Given the description of an element on the screen output the (x, y) to click on. 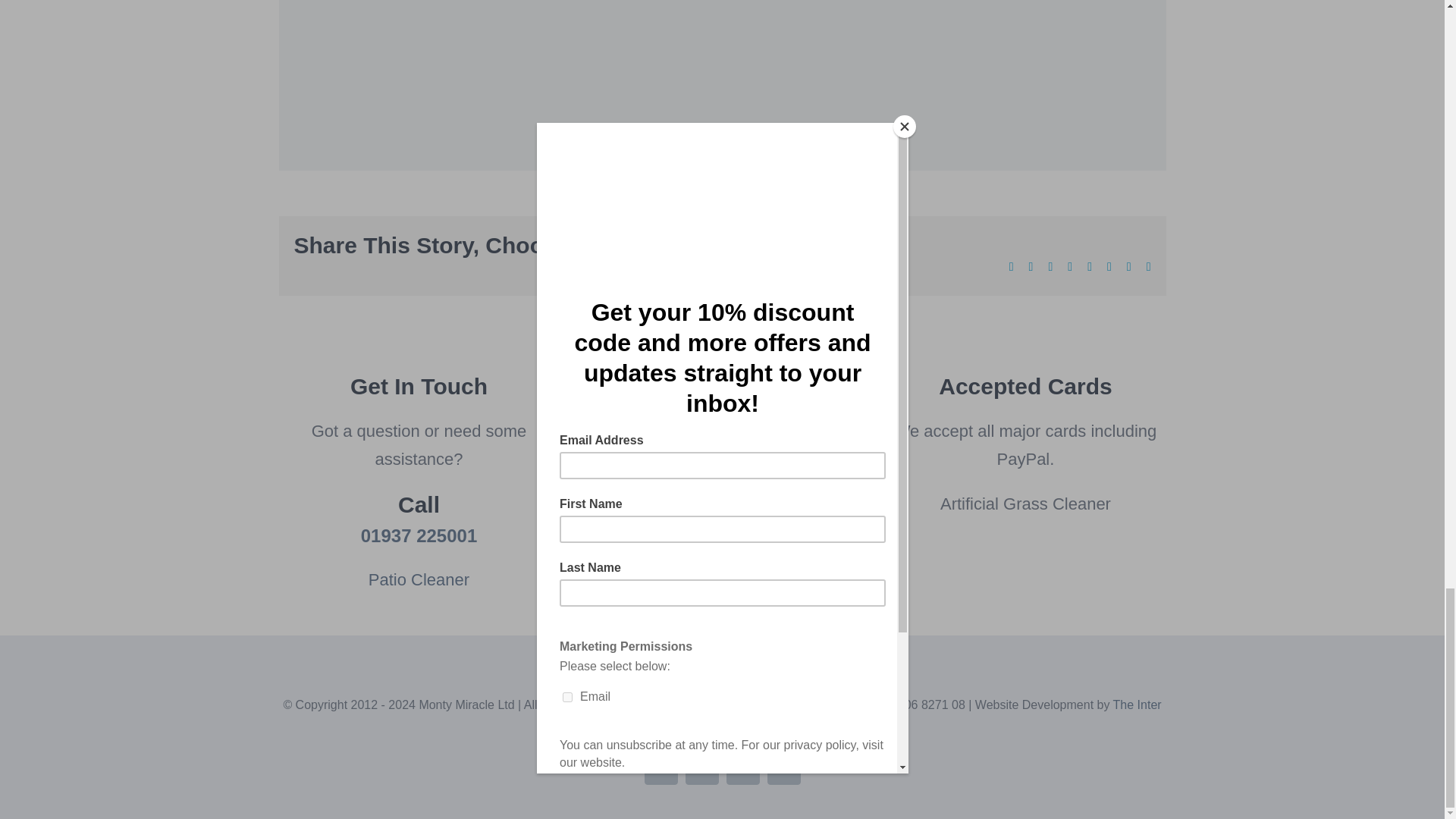
Email (702, 767)
YouTube (661, 767)
